Given the description of an element on the screen output the (x, y) to click on. 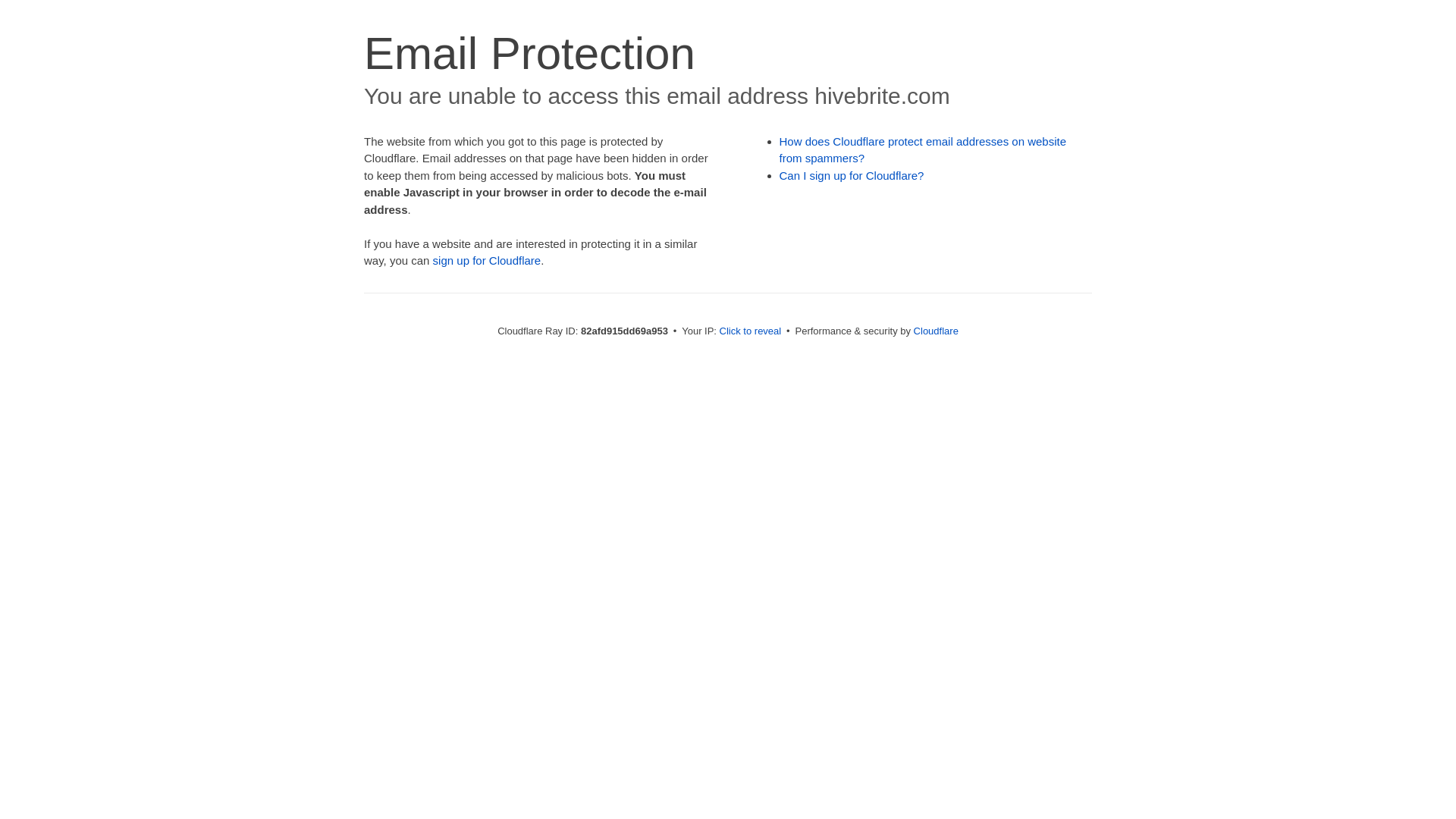
sign up for Cloudflare Element type: text (487, 260)
Click to reveal Element type: text (750, 330)
Can I sign up for Cloudflare? Element type: text (851, 175)
Cloudflare Element type: text (935, 330)
